Given the description of an element on the screen output the (x, y) to click on. 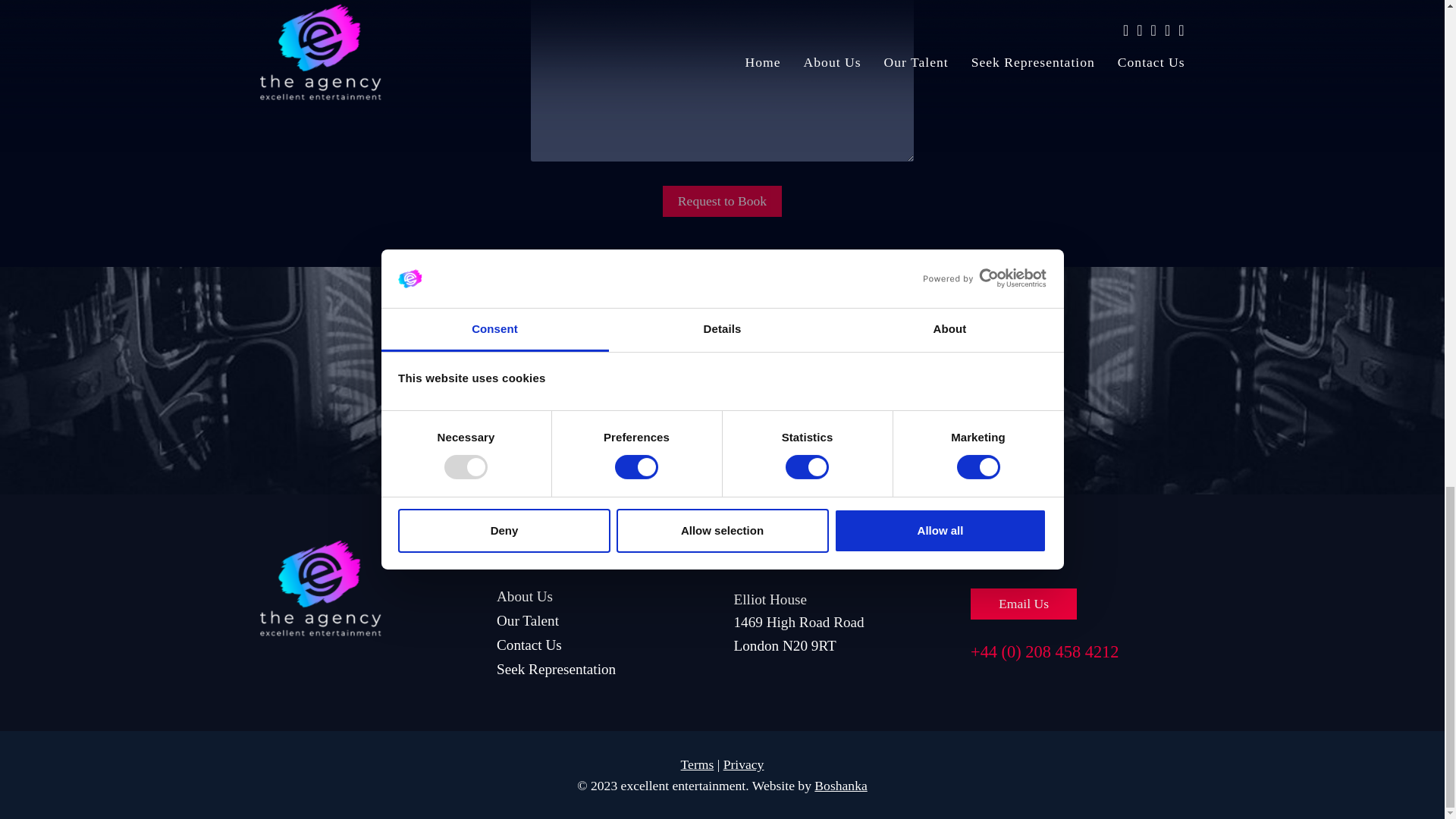
Request to Book (721, 201)
